Given the description of an element on the screen output the (x, y) to click on. 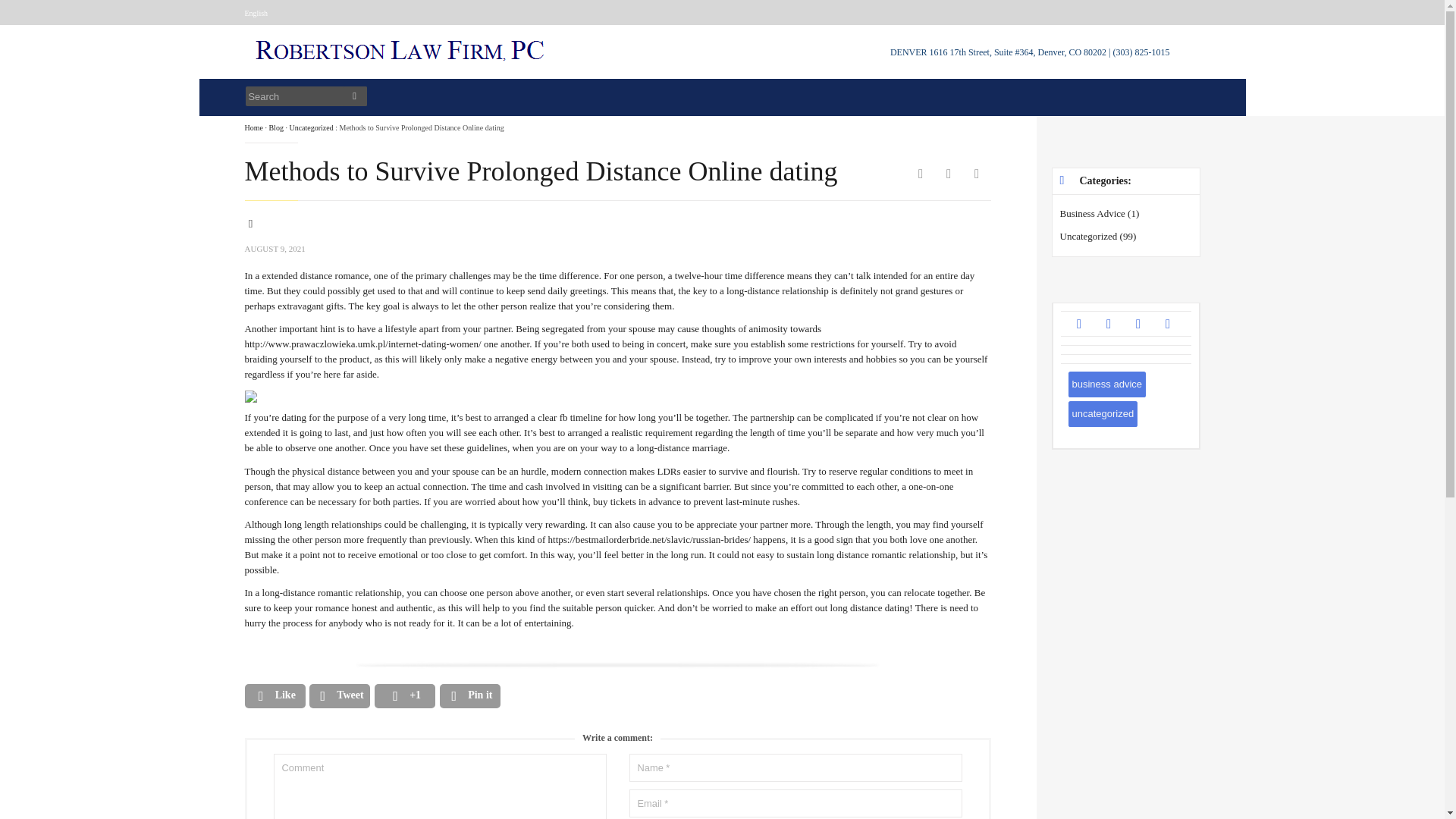
Business Advice (1092, 213)
Standard (263, 230)
uncategorized (1102, 413)
Blog (274, 127)
Robertson Law Firm (401, 62)
Home (253, 127)
Uncategorized (310, 127)
business advice (1106, 384)
Share on Google Plus (404, 694)
English (255, 13)
